Given the description of an element on the screen output the (x, y) to click on. 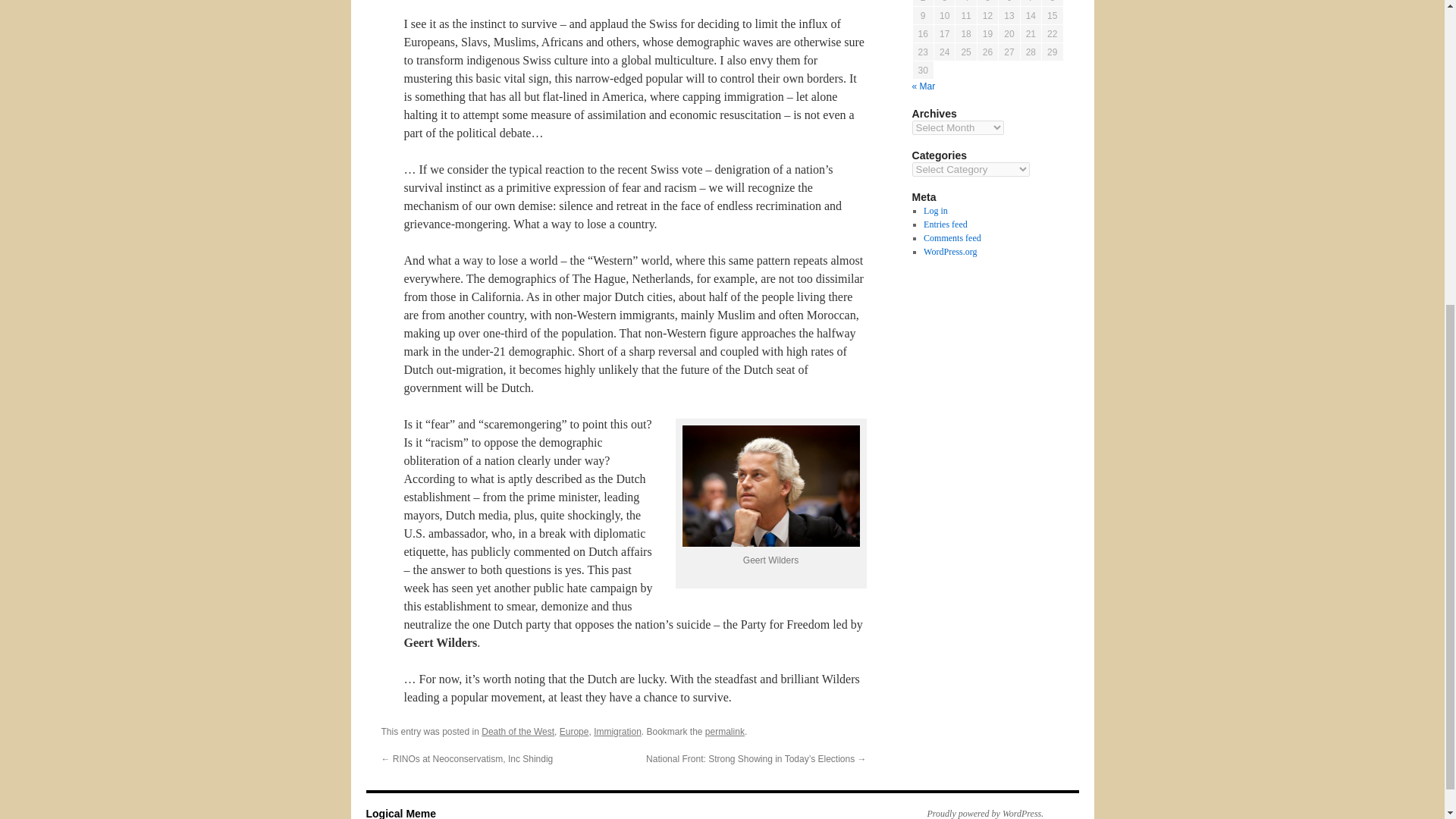
Death of the West (517, 731)
Comments feed (952, 237)
Log in (935, 210)
Europe (574, 731)
WordPress.org (949, 251)
permalink (724, 731)
Immigration (618, 731)
Entries feed (945, 224)
